Given the description of an element on the screen output the (x, y) to click on. 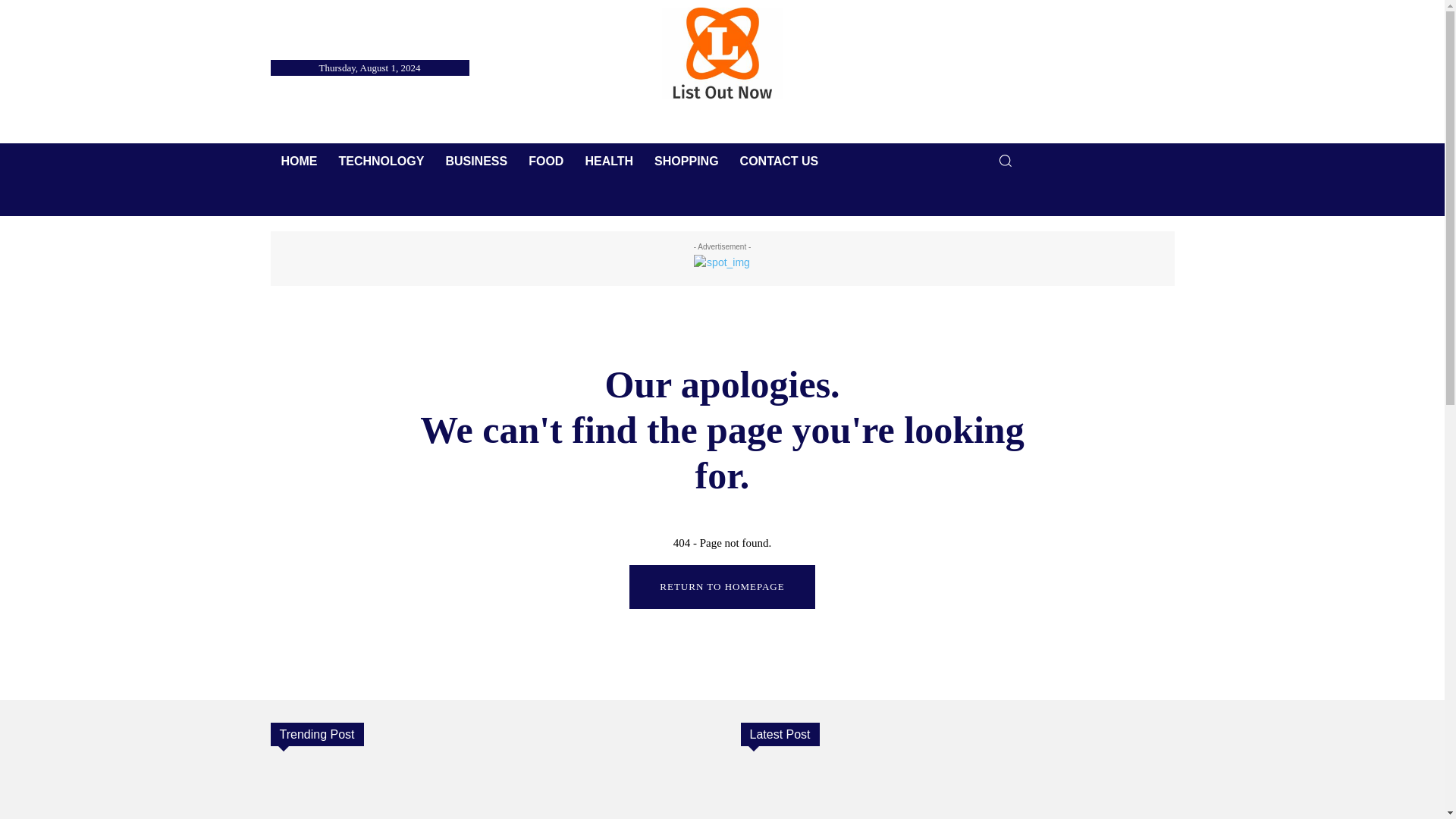
FOOD (545, 161)
SHOPPING (686, 161)
BUSINESS (475, 161)
HOME (298, 161)
TECHNOLOGY (380, 161)
Return to Homepage (720, 587)
HEALTH (608, 161)
RETURN TO HOMEPAGE (720, 587)
CONTACT US (779, 161)
